Given the description of an element on the screen output the (x, y) to click on. 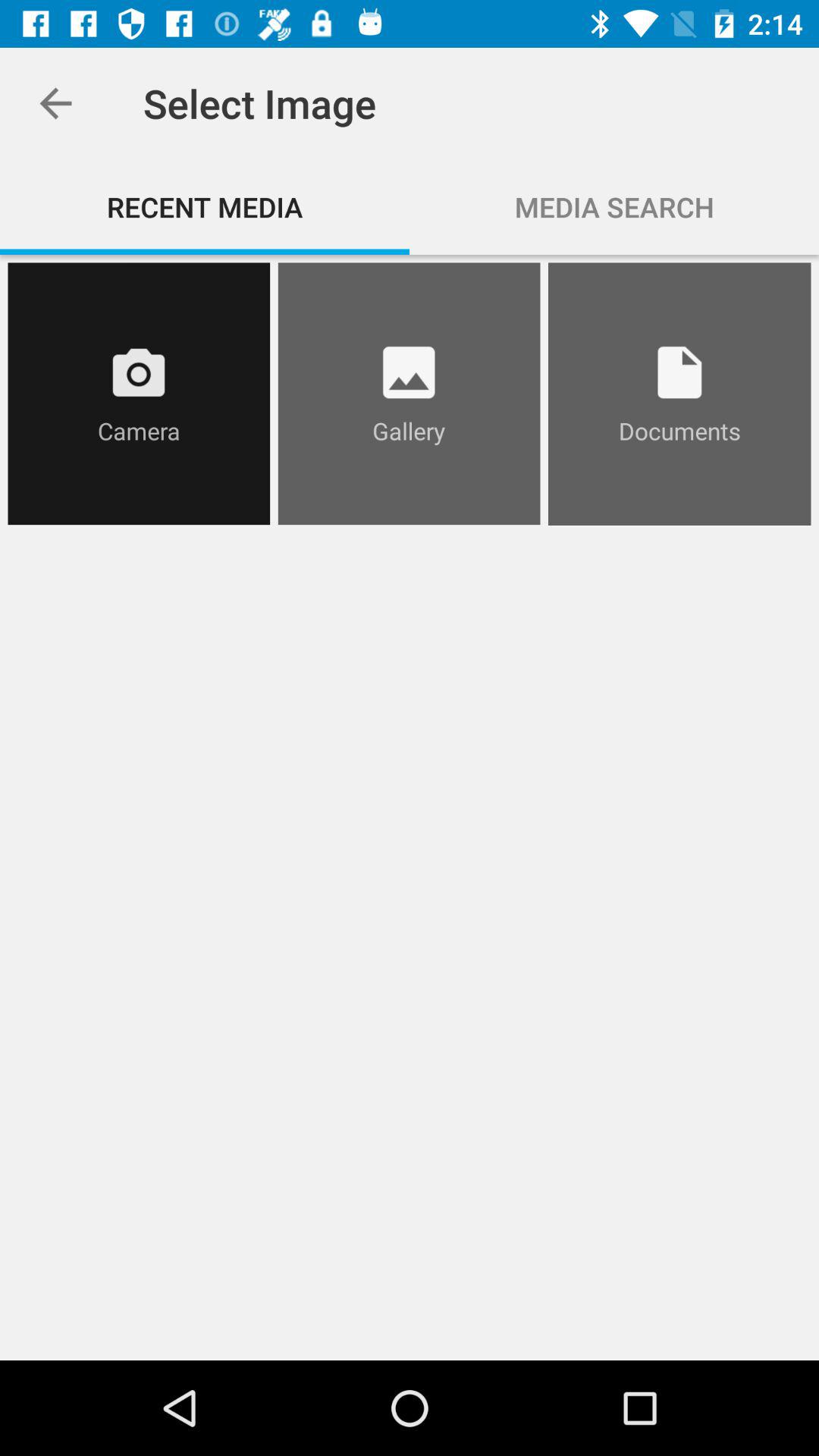
press icon to the left of the select image icon (55, 103)
